Given the description of an element on the screen output the (x, y) to click on. 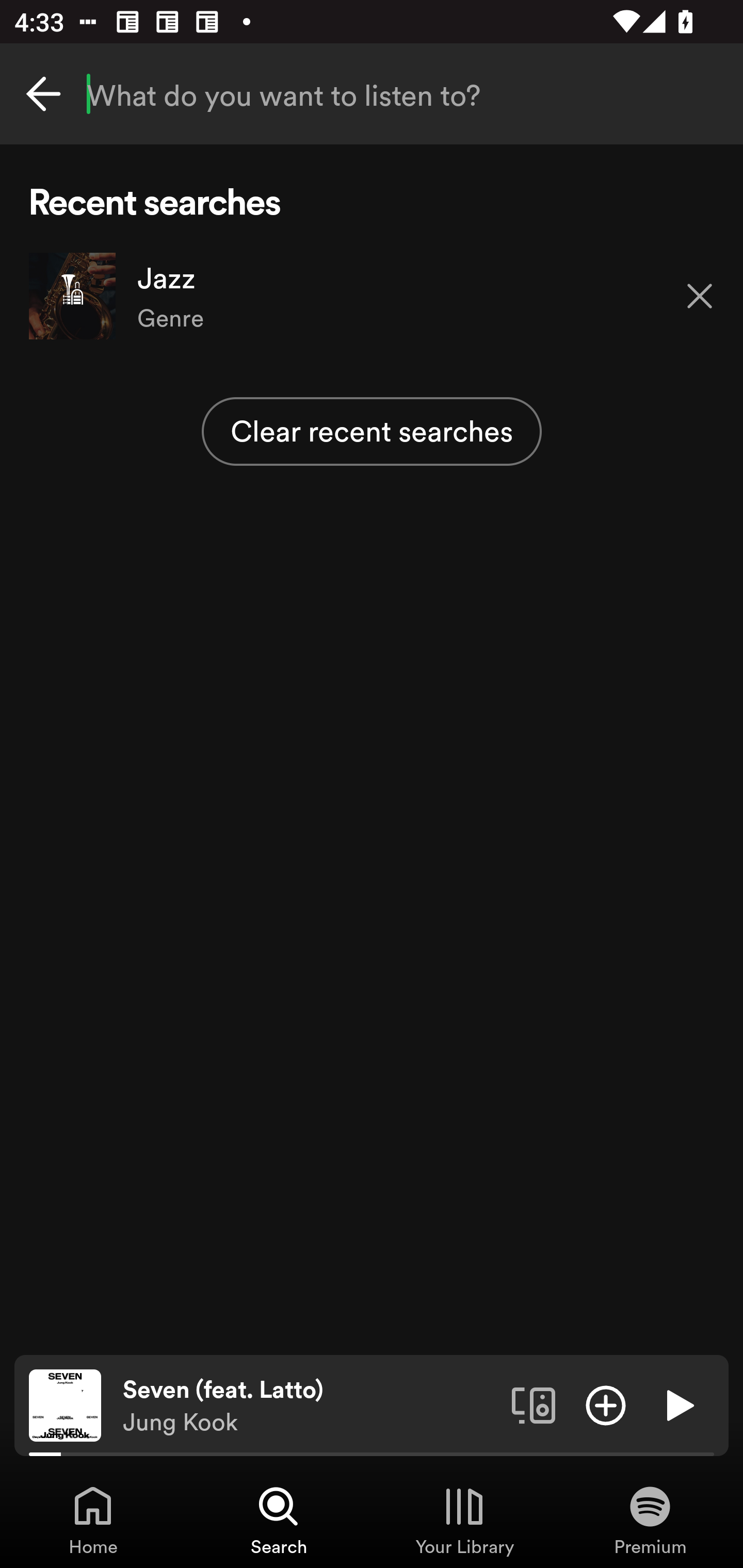
What do you want to listen to? (371, 93)
Cancel (43, 93)
Jazz Genre Remove (371, 296)
Remove (699, 295)
Clear recent searches (371, 430)
Seven (feat. Latto) Jung Kook (309, 1405)
The cover art of the currently playing track (64, 1404)
Connect to a device. Opens the devices menu (533, 1404)
Add item (605, 1404)
Play (677, 1404)
Home, Tab 1 of 4 Home Home (92, 1519)
Search, Tab 2 of 4 Search Search (278, 1519)
Your Library, Tab 3 of 4 Your Library Your Library (464, 1519)
Premium, Tab 4 of 4 Premium Premium (650, 1519)
